Given the description of an element on the screen output the (x, y) to click on. 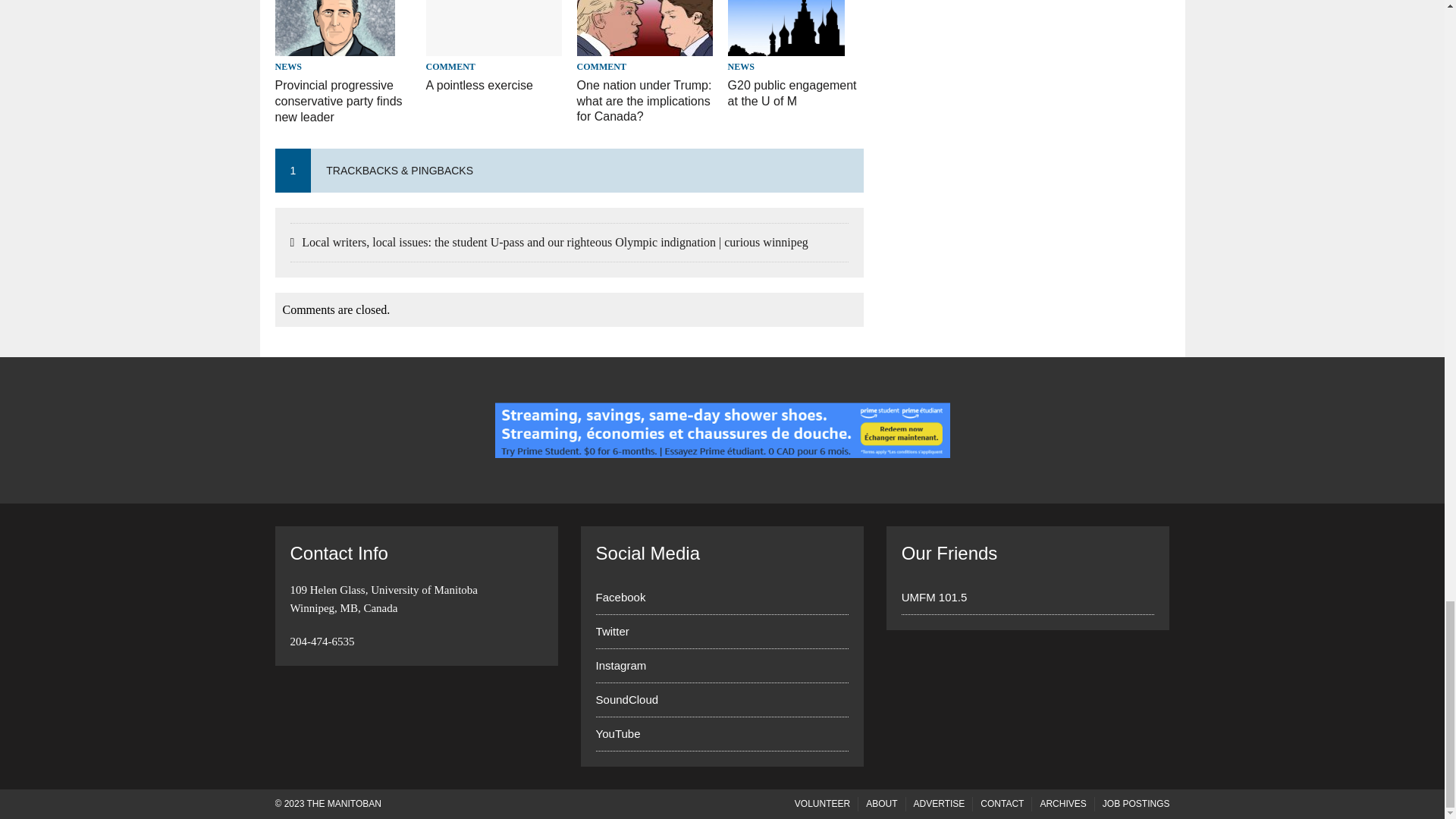
A pointless exercise (494, 45)
A pointless exercise (479, 84)
G20 public engagement at the U of M (786, 46)
Provincial progressive conservative party finds new leader (338, 100)
Provincial progressive conservative party finds new leader (334, 45)
